Given the description of an element on the screen output the (x, y) to click on. 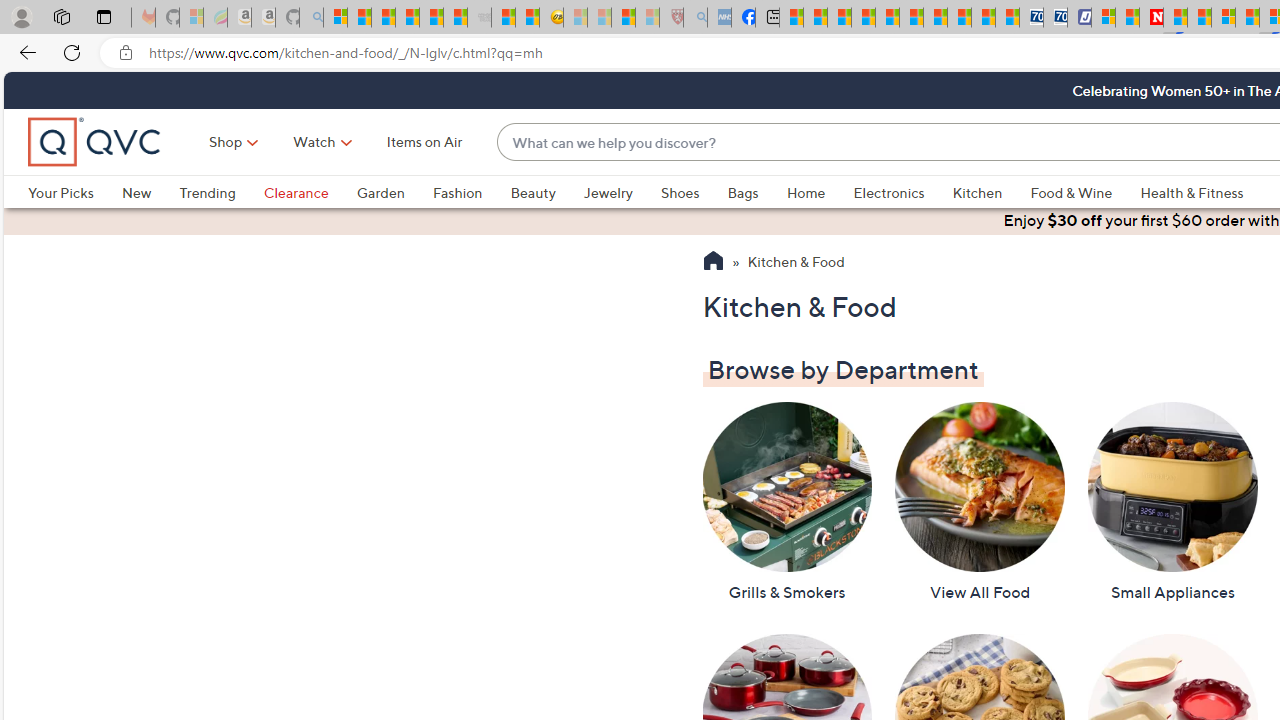
Combat Siege - Sleeping (479, 17)
Trending (207, 192)
Bags (743, 192)
Beauty (546, 192)
Your Picks (60, 192)
Climate Damage Becomes Too Severe To Reverse (863, 17)
Fashion (457, 192)
QVC home (95, 141)
